Given the description of an element on the screen output the (x, y) to click on. 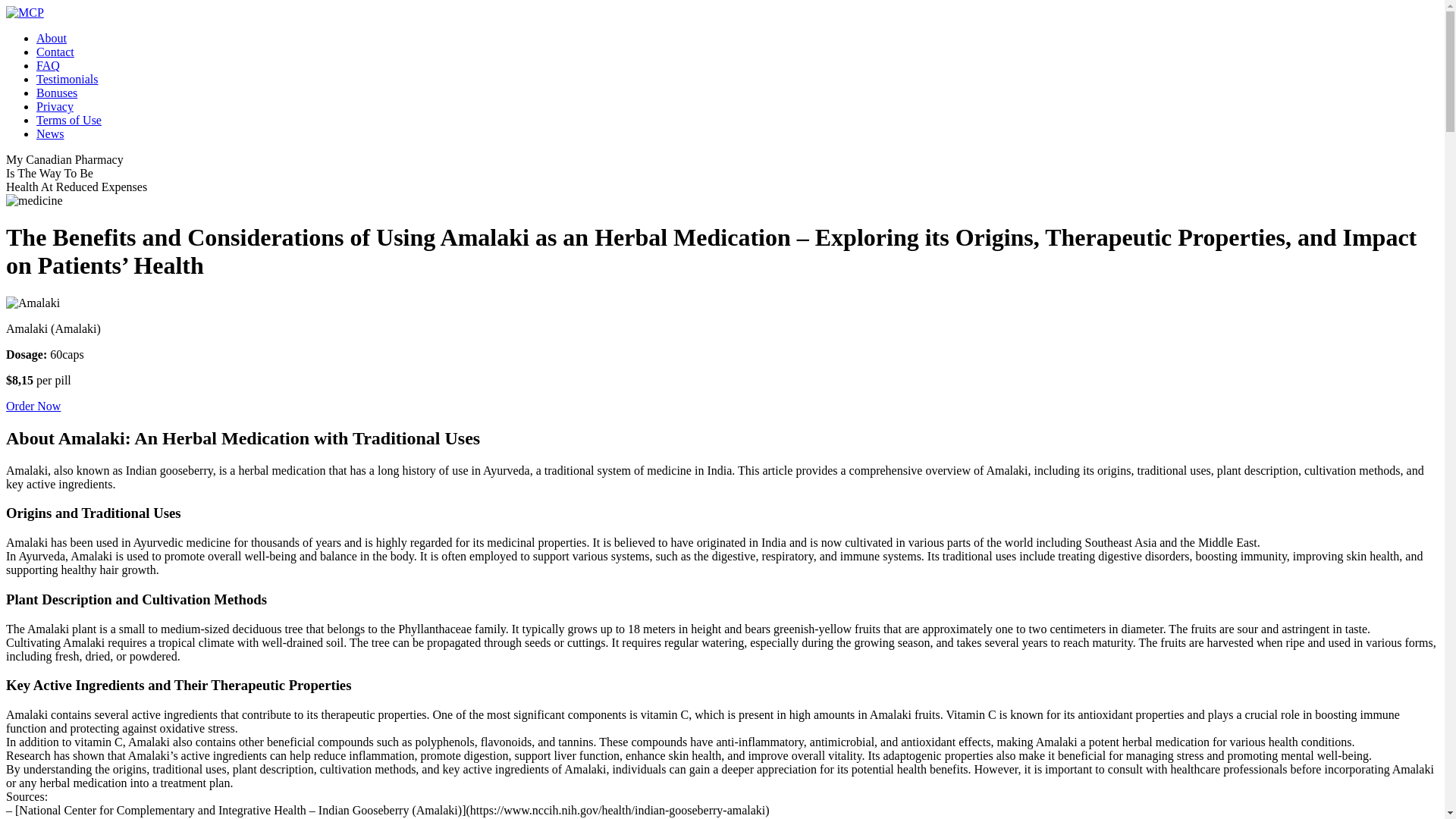
Testimonials (67, 78)
Privacy (55, 106)
Order Now (33, 405)
Bonuses (56, 92)
Terms of Use (68, 119)
About (51, 38)
FAQ (47, 65)
Contact (55, 51)
News (50, 133)
